Given the description of an element on the screen output the (x, y) to click on. 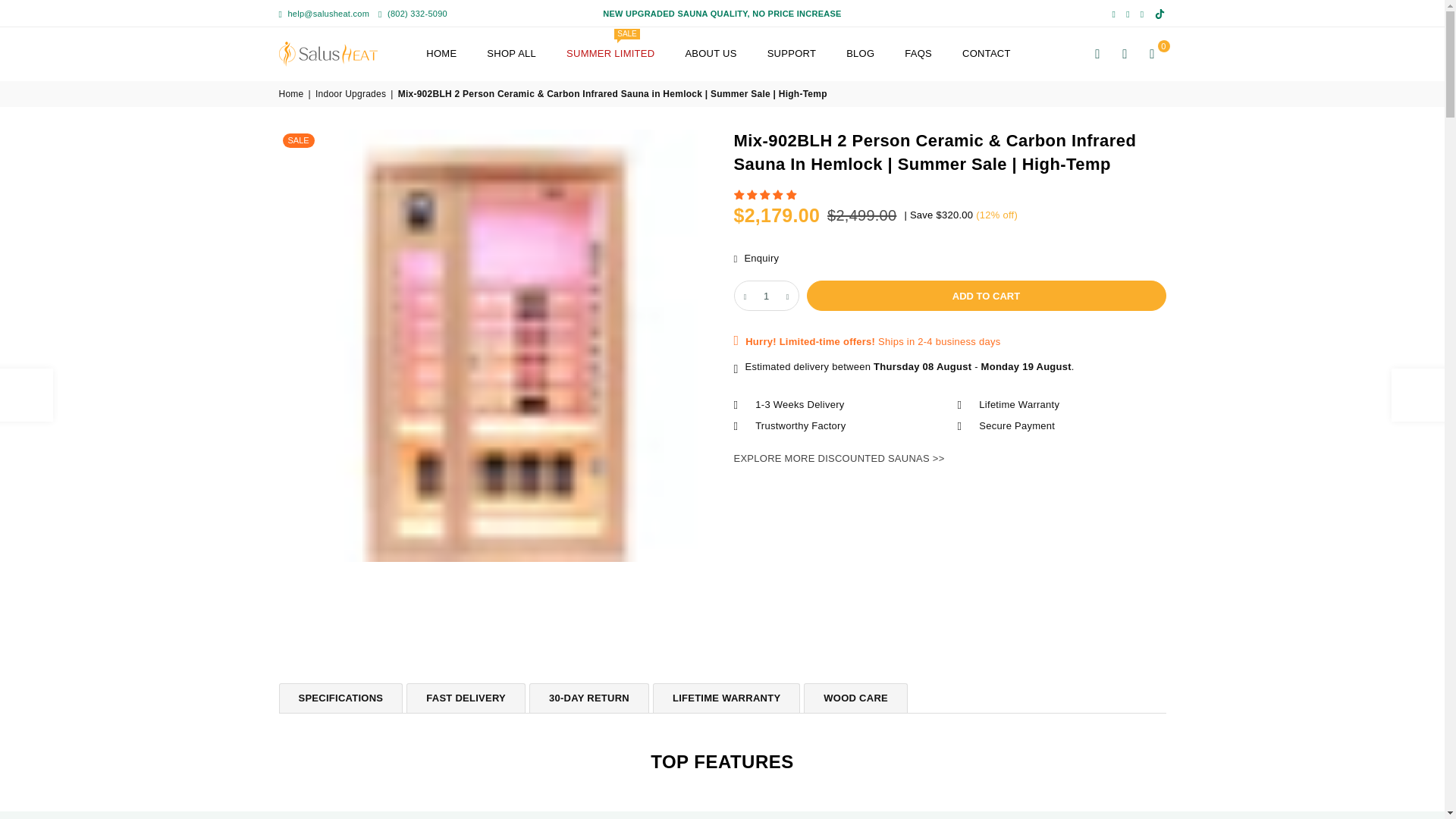
SHOP ALL (511, 54)
Instagram (1128, 13)
SalusHEAT Saunas Direct on Facebook (1113, 13)
SalusHEAT Saunas Direct on TikTok (1160, 13)
SALUSHEAT SAUNAS DIRECT (343, 53)
TikTok (1160, 13)
Cart (1152, 53)
HOME (440, 54)
SalusHEAT Saunas Direct on Instagram (1128, 13)
Settings (1125, 53)
Back to the home page (292, 93)
Search (1098, 53)
YouTube (1142, 13)
SalusHEAT Saunas Direct on YouTube (1142, 13)
Facebook (1113, 13)
